Given the description of an element on the screen output the (x, y) to click on. 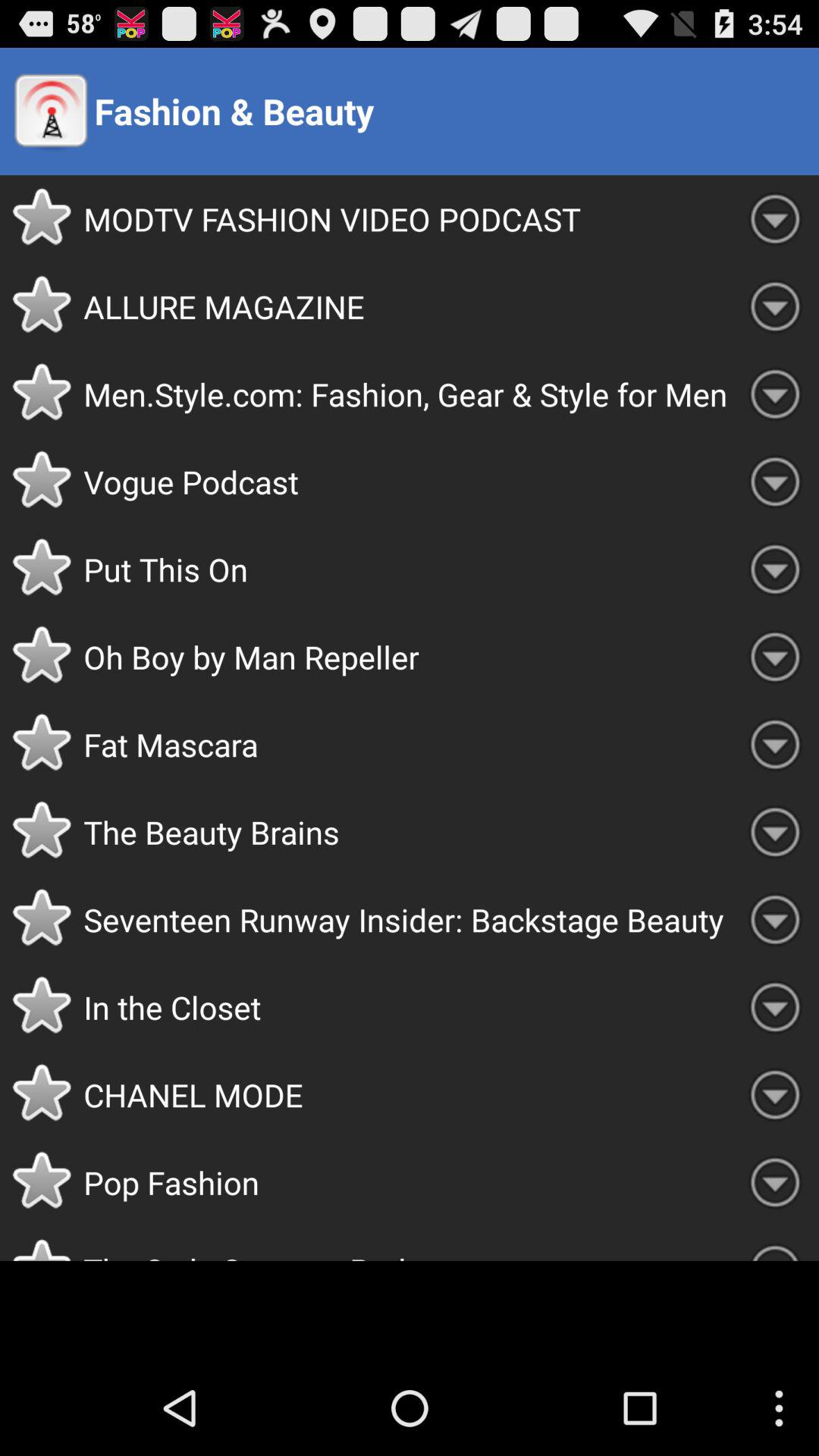
select icon below the beauty brains (407, 919)
